Given the description of an element on the screen output the (x, y) to click on. 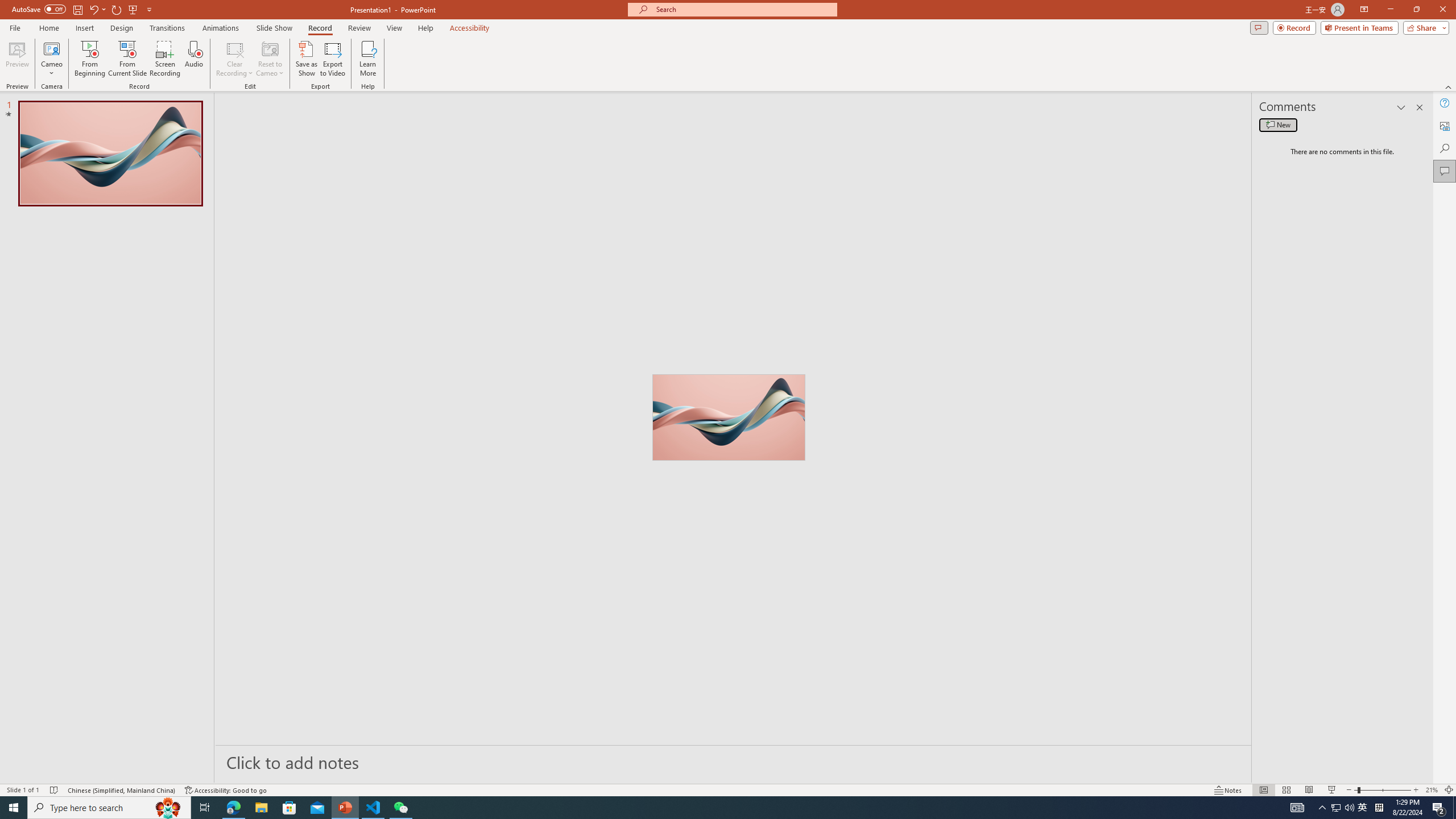
Screen Recording (165, 58)
New comment (1278, 124)
From Current Slide... (127, 58)
